Given the description of an element on the screen output the (x, y) to click on. 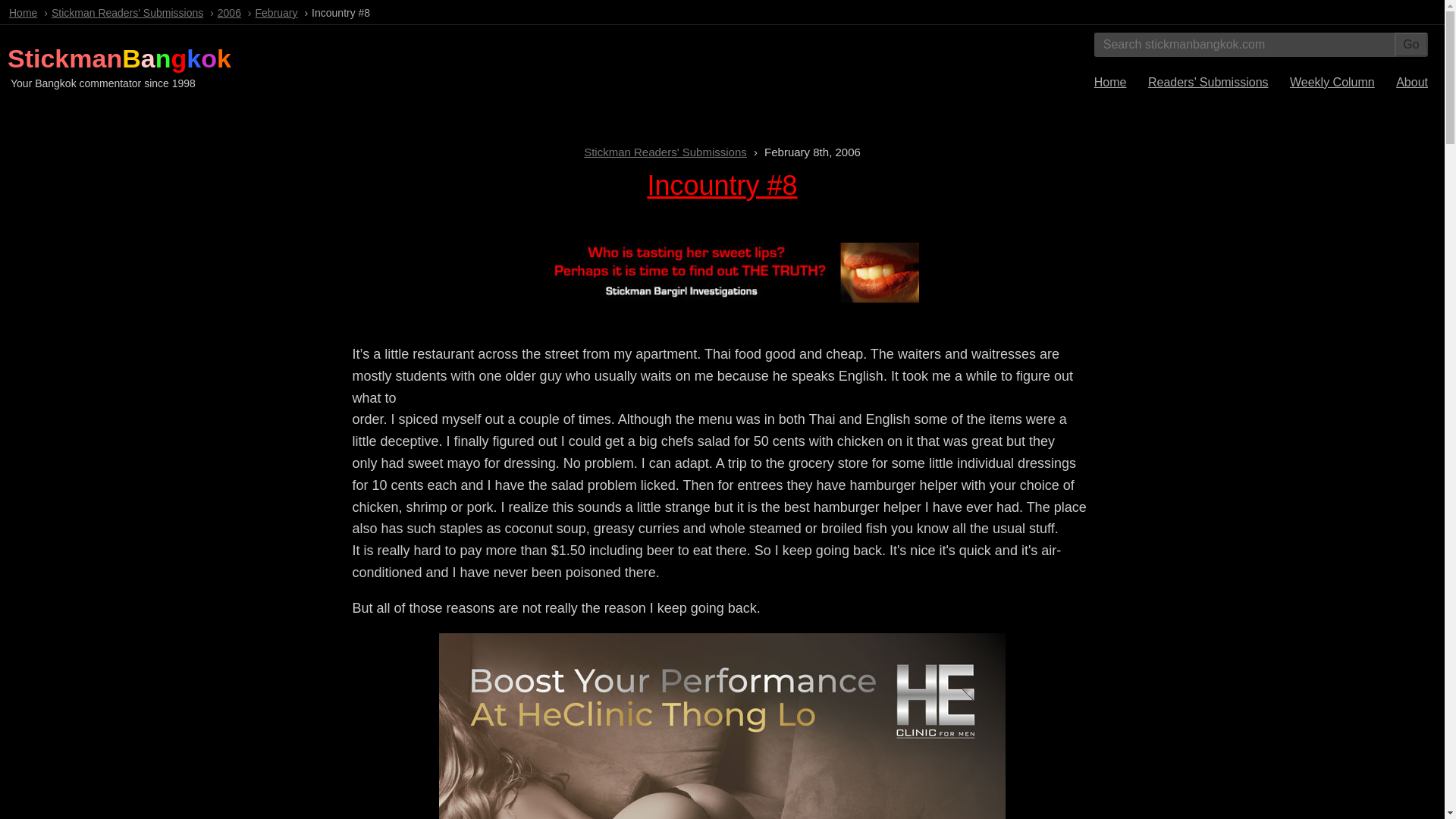
Weekly Column (1332, 82)
StickmanBangkok (119, 58)
February (277, 12)
Stickman Readers' Submissions (664, 151)
Stickman Readers' Submissions (126, 12)
Go (1411, 44)
Home (1109, 82)
Home (22, 12)
2006 (228, 12)
About (1412, 82)
